Given the description of an element on the screen output the (x, y) to click on. 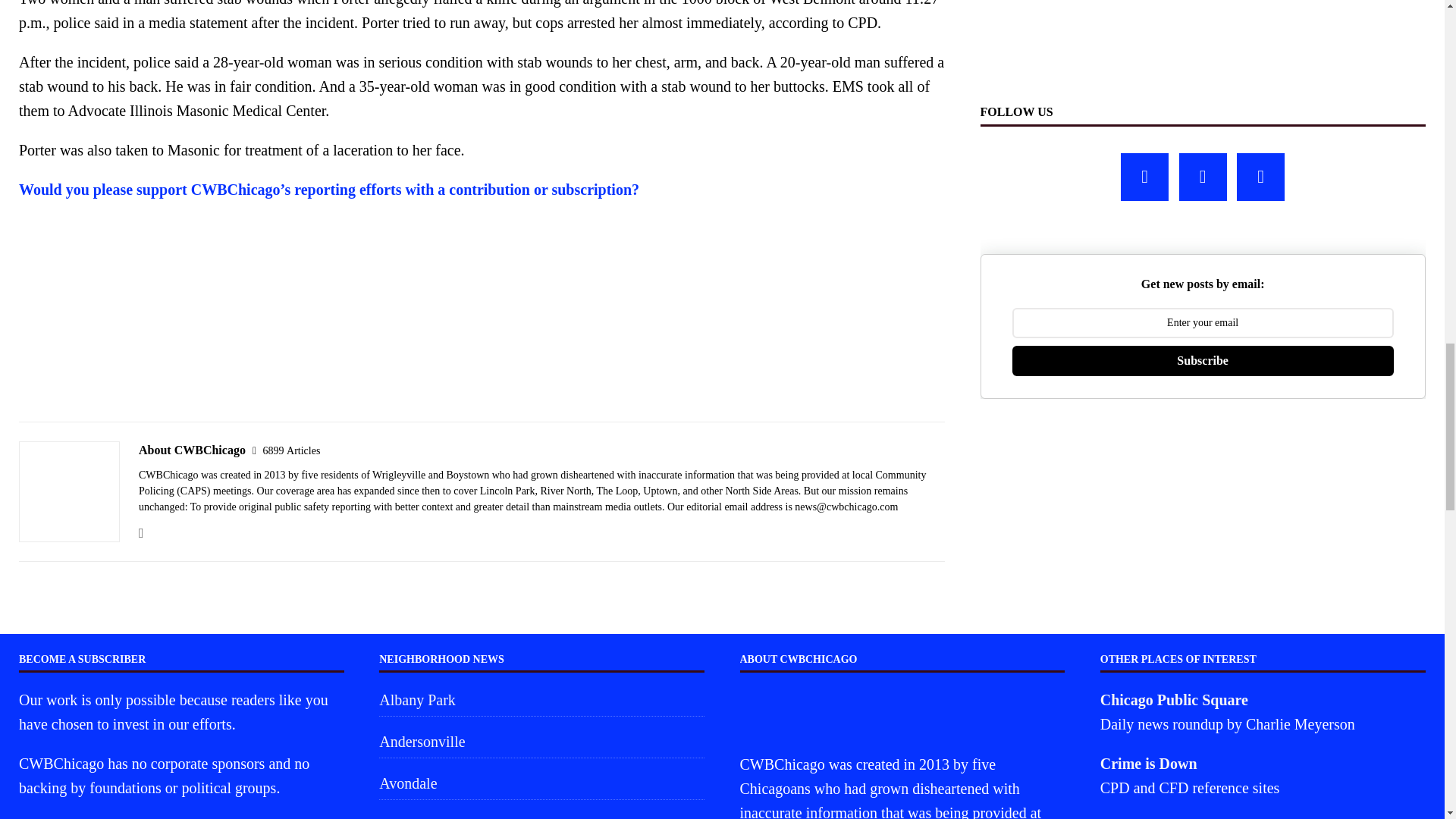
Avondale (541, 783)
Andersonville (541, 741)
6899 Articles (291, 450)
bscription? (602, 189)
Albany Park (541, 701)
Boystown (541, 814)
More articles written by CWBChicago' (291, 450)
Subscribe (1202, 360)
